Given the description of an element on the screen output the (x, y) to click on. 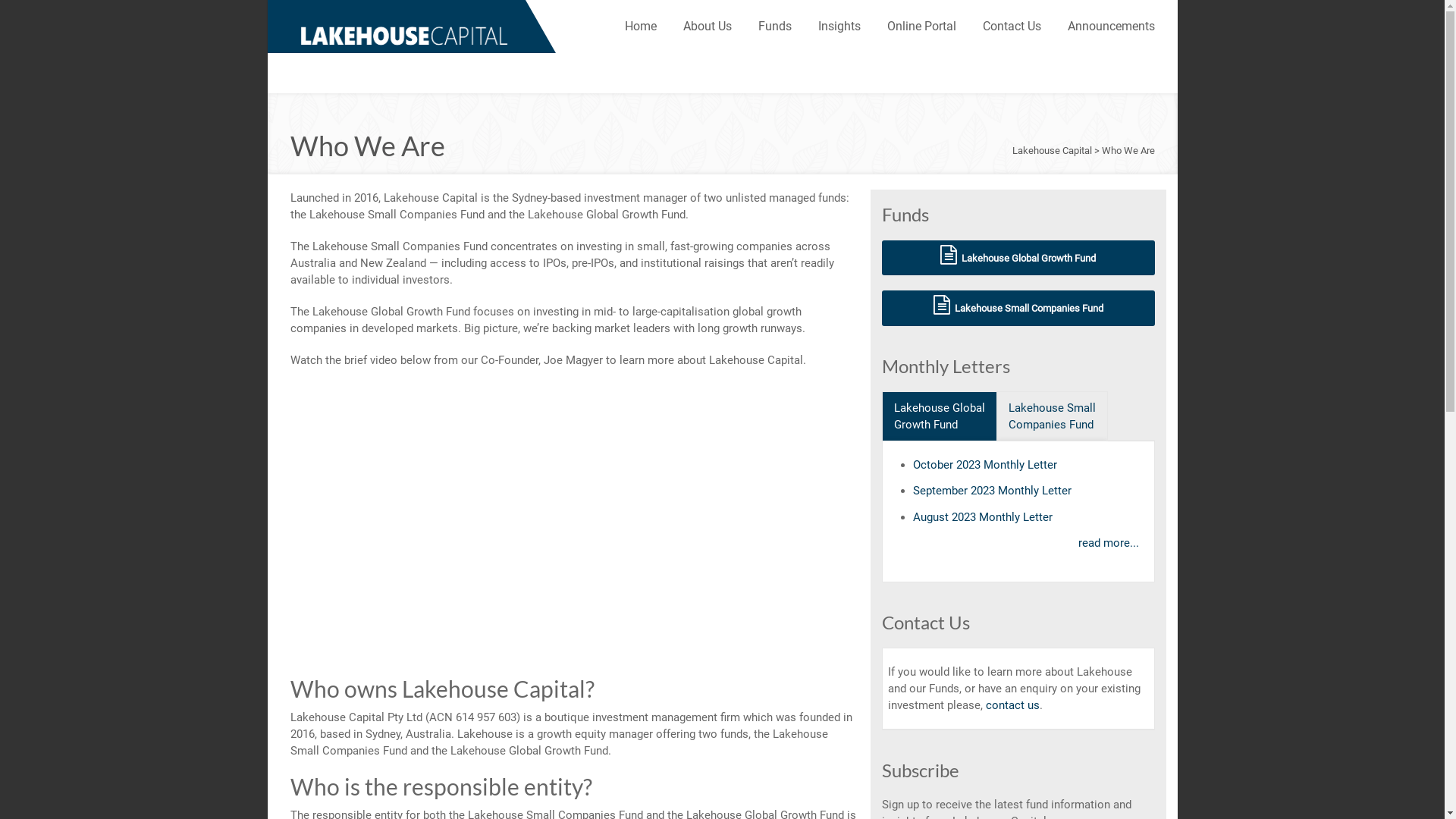
  Lakehouse Global Growth Fund Element type: text (1017, 258)
Funds Element type: text (774, 26)
Lakehouse Capital Element type: hover (403, 35)
Contact Us Element type: text (1011, 26)
Insights Element type: text (838, 26)
Lakehouse Small
Companies Fund Element type: text (1051, 416)
read more... Element type: text (1108, 542)
August 2023 Monthly Letter Element type: text (982, 517)
contact us Element type: text (1012, 705)
Announcements Element type: text (1110, 26)
Home Element type: text (640, 26)
Online Portal Element type: text (921, 26)
October 2023 Monthly Letter Element type: text (985, 464)
  Lakehouse Small Companies Fund Element type: text (1017, 308)
September 2023 Monthly Letter Element type: text (992, 490)
About Us Element type: text (706, 26)
Lakehouse Capital Element type: text (1051, 150)
Lakehouse Global
Growth Fund Element type: text (938, 416)
